Given the description of an element on the screen output the (x, y) to click on. 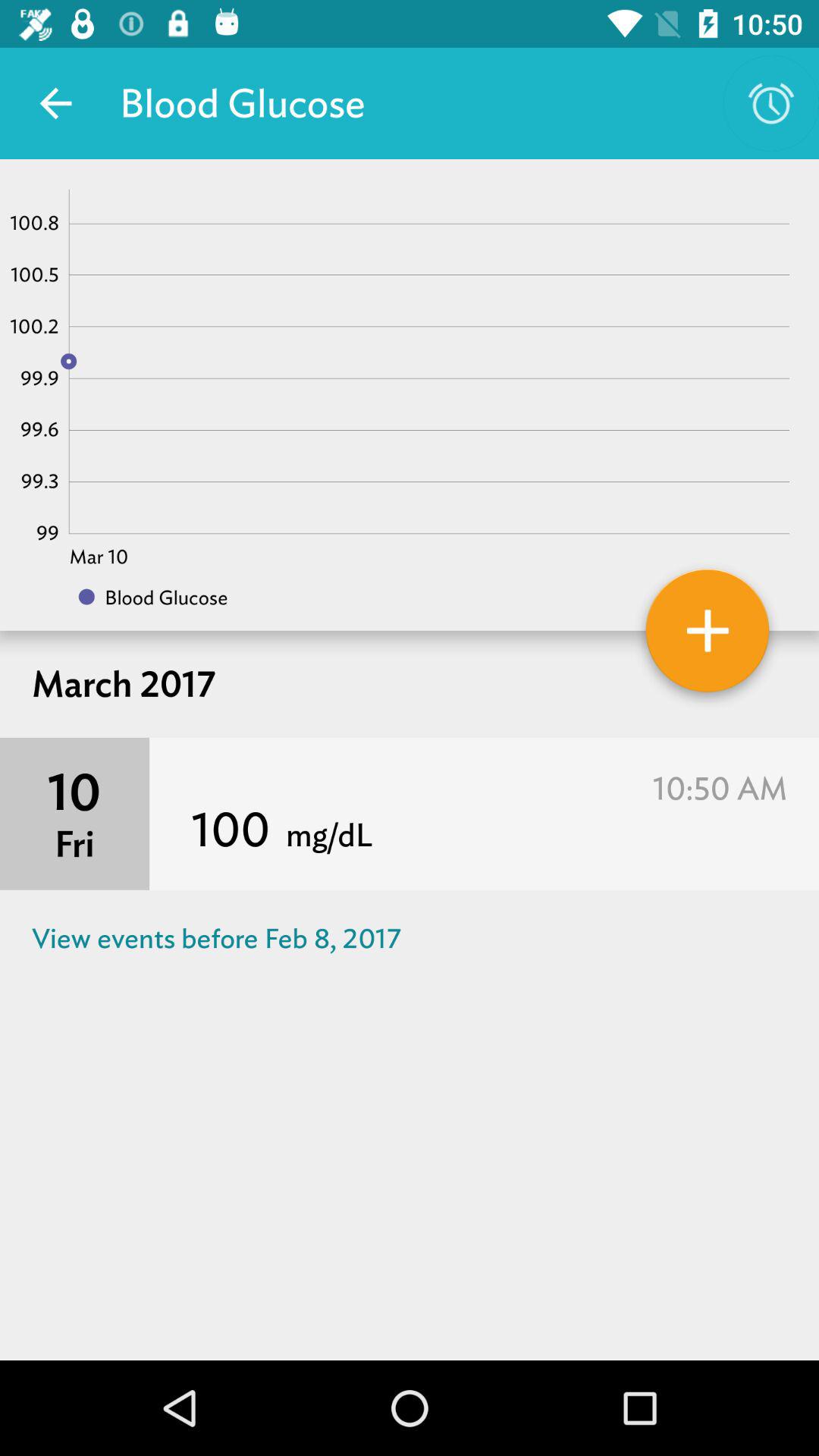
open the icon at the top right corner (771, 103)
